Given the description of an element on the screen output the (x, y) to click on. 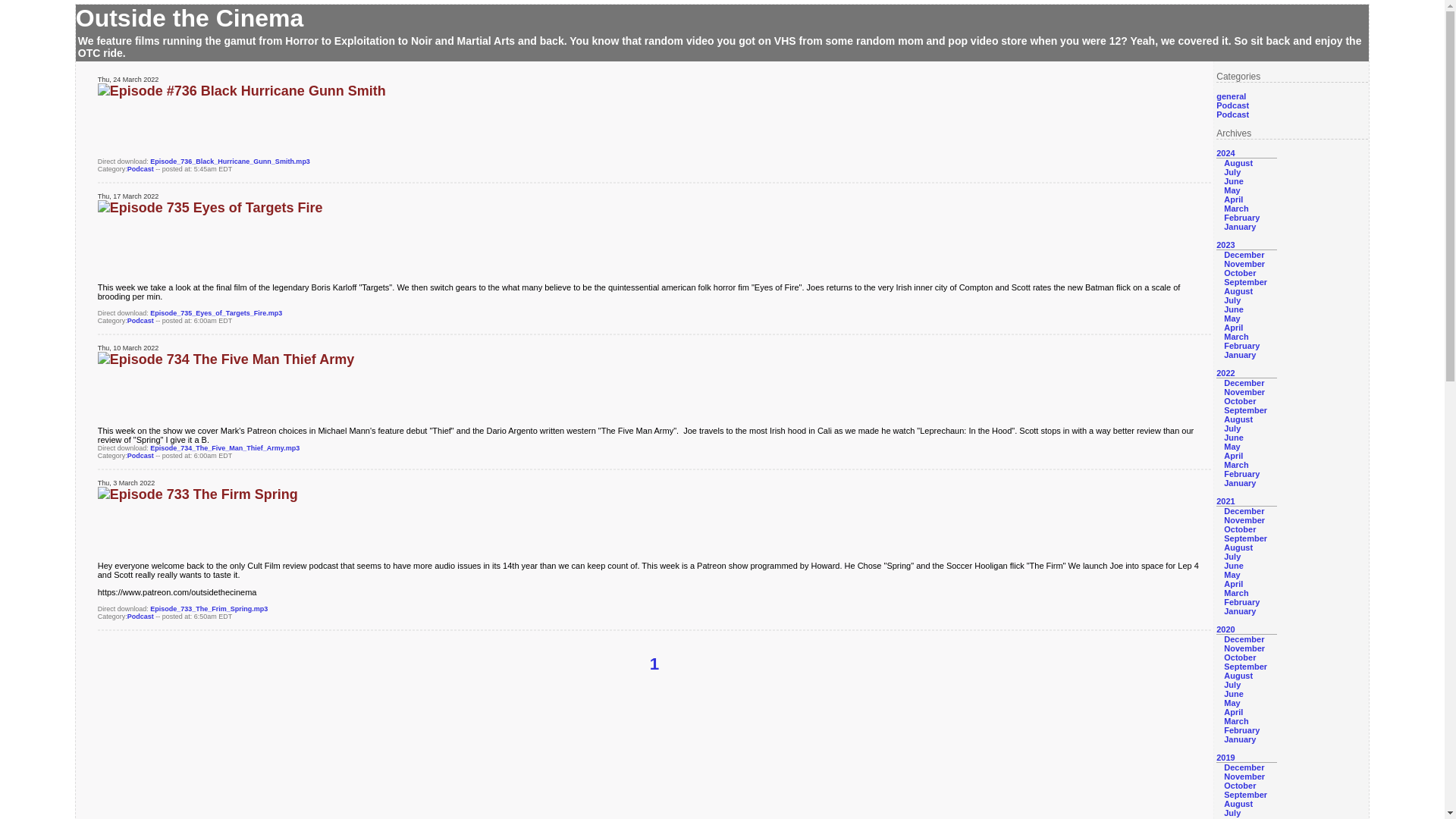
September (1245, 409)
February (1241, 345)
October (1239, 272)
March (1235, 464)
April (1233, 198)
May (1232, 446)
March (1235, 207)
April (1233, 327)
Podcast (1232, 104)
December (1243, 382)
